Given the description of an element on the screen output the (x, y) to click on. 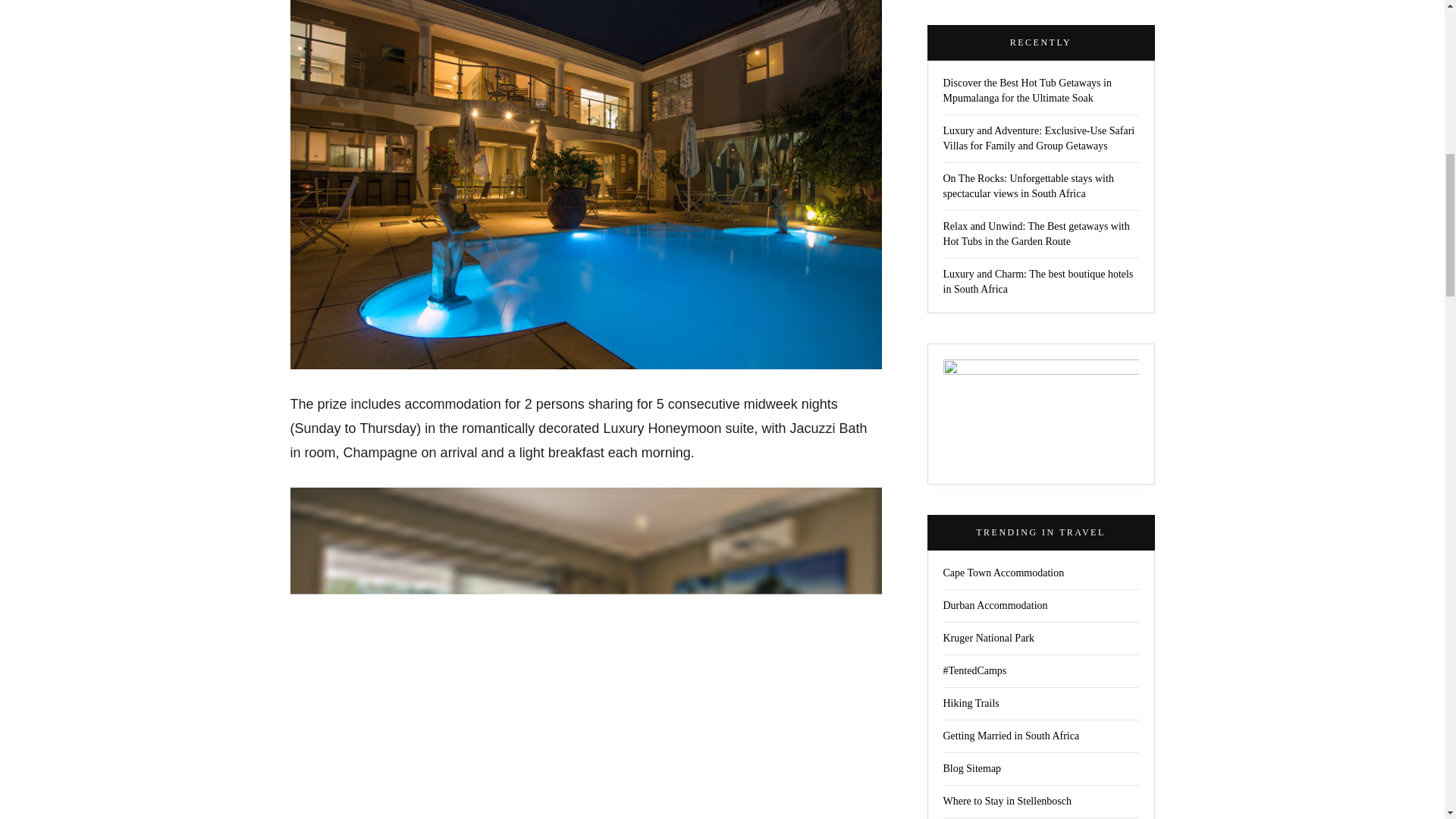
Holiday Accommodation in Cape Town (1003, 572)
Durban Accommodation (995, 604)
